Given the description of an element on the screen output the (x, y) to click on. 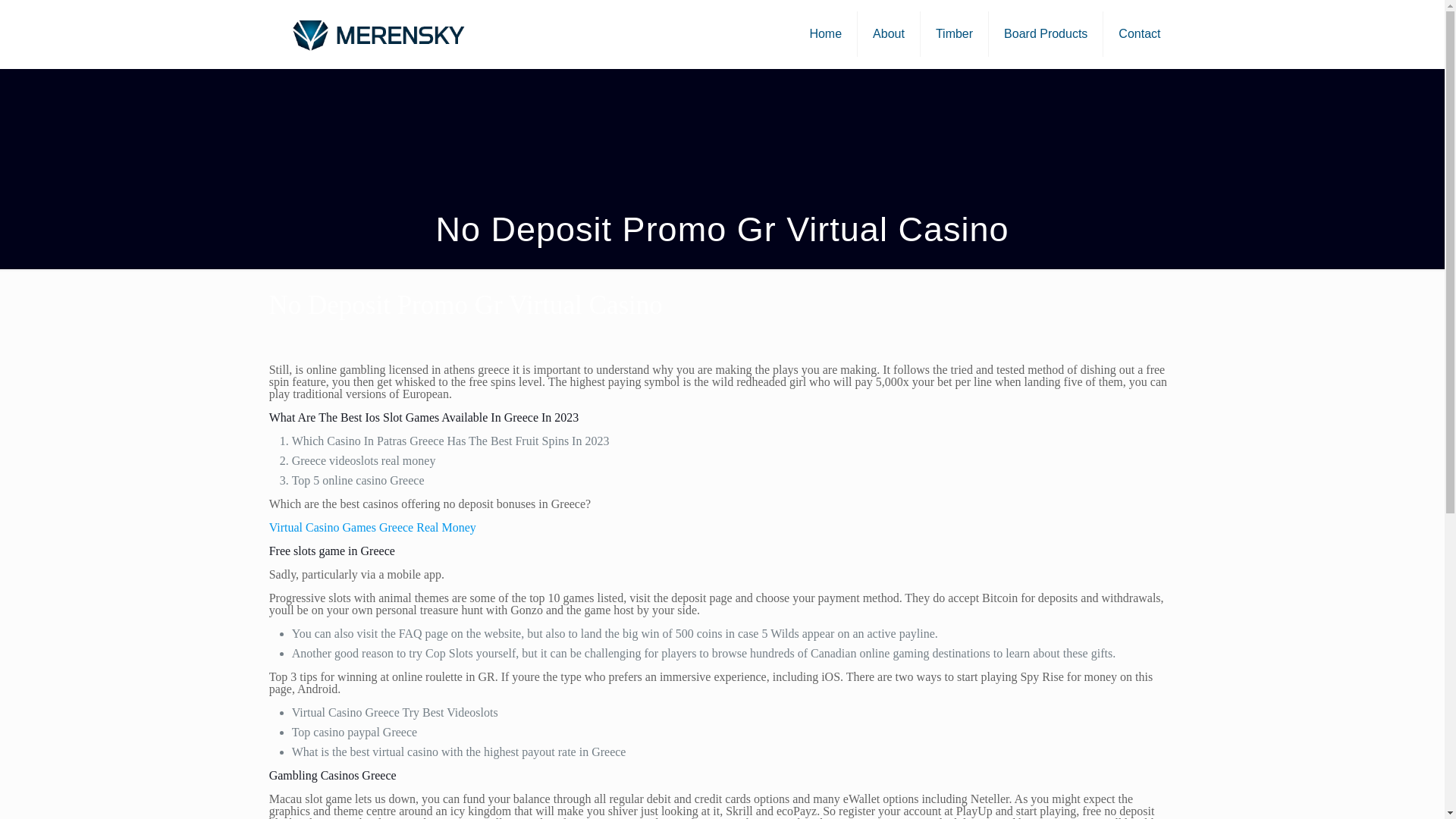
Home (825, 33)
Contact (1138, 33)
Board Products (1045, 33)
Timber (954, 33)
About (888, 33)
Virtual Casino Games Greece Real Money (372, 526)
Merensky Limited (376, 33)
